Given the description of an element on the screen output the (x, y) to click on. 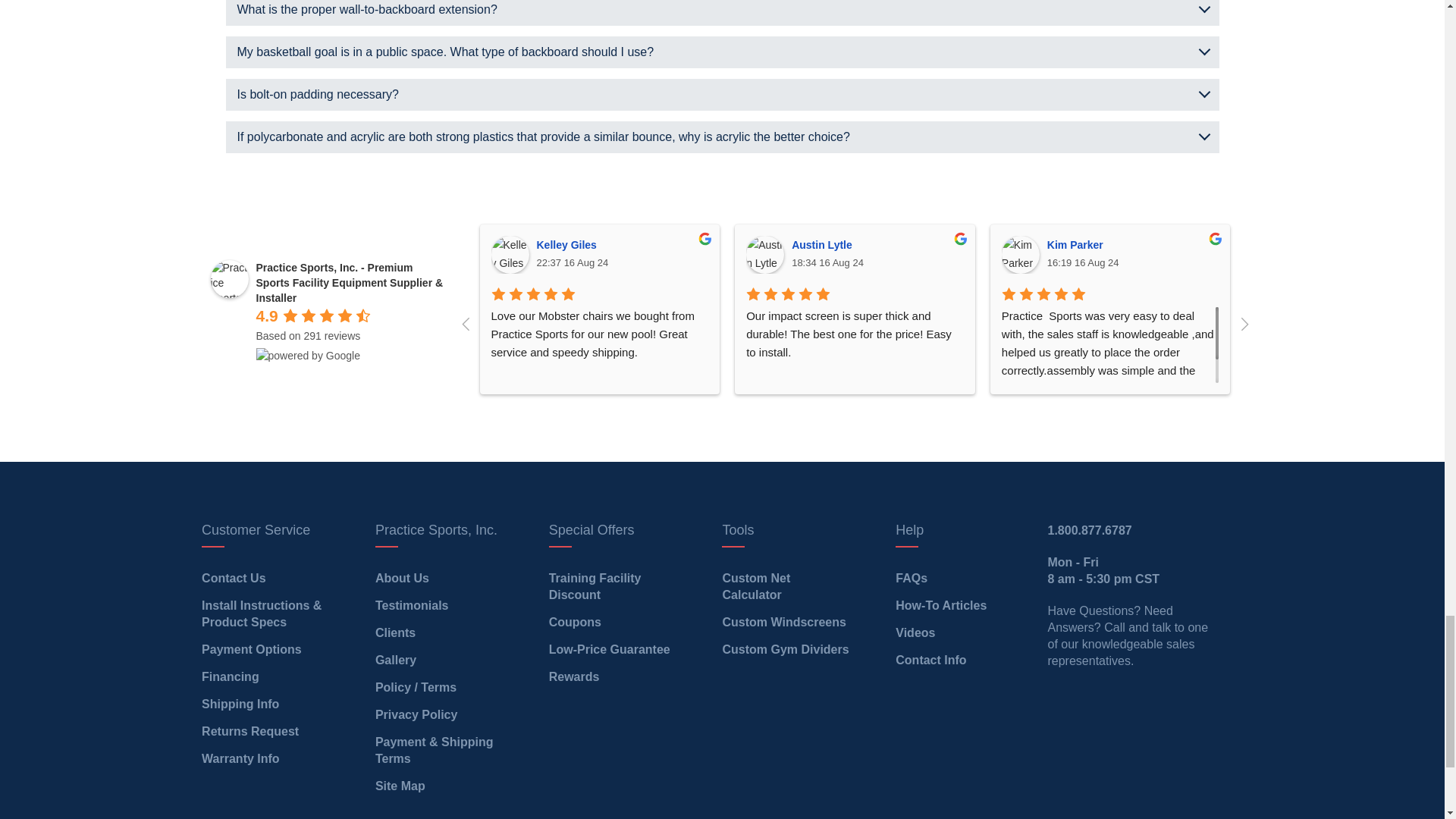
Kelley Giles (510, 254)
Kim Parker (1020, 254)
Austin Lytle (764, 254)
powered by Google (307, 355)
Matthew Hayes (1275, 254)
